Given the description of an element on the screen output the (x, y) to click on. 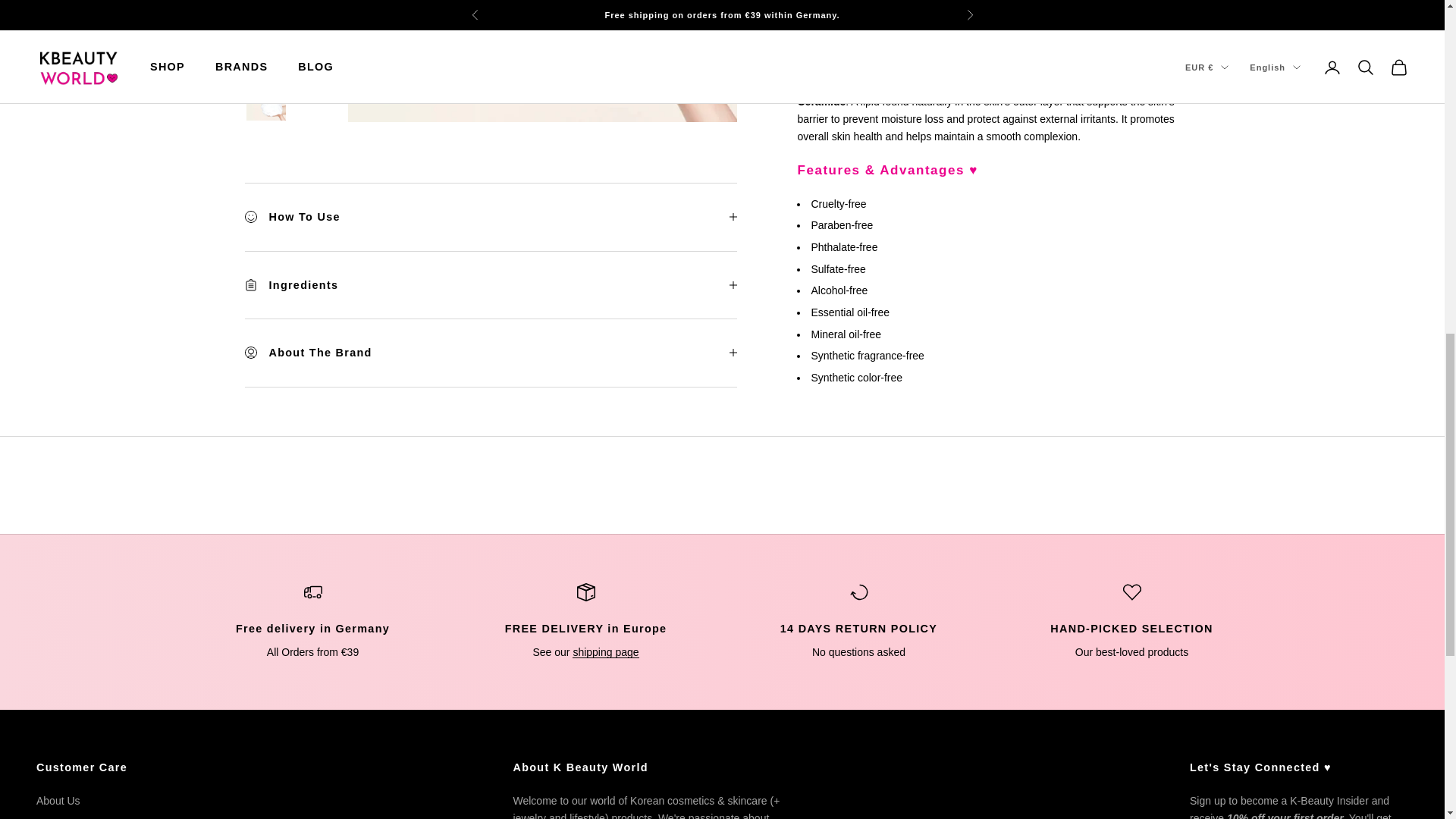
Shipping (490, 284)
